Given the description of an element on the screen output the (x, y) to click on. 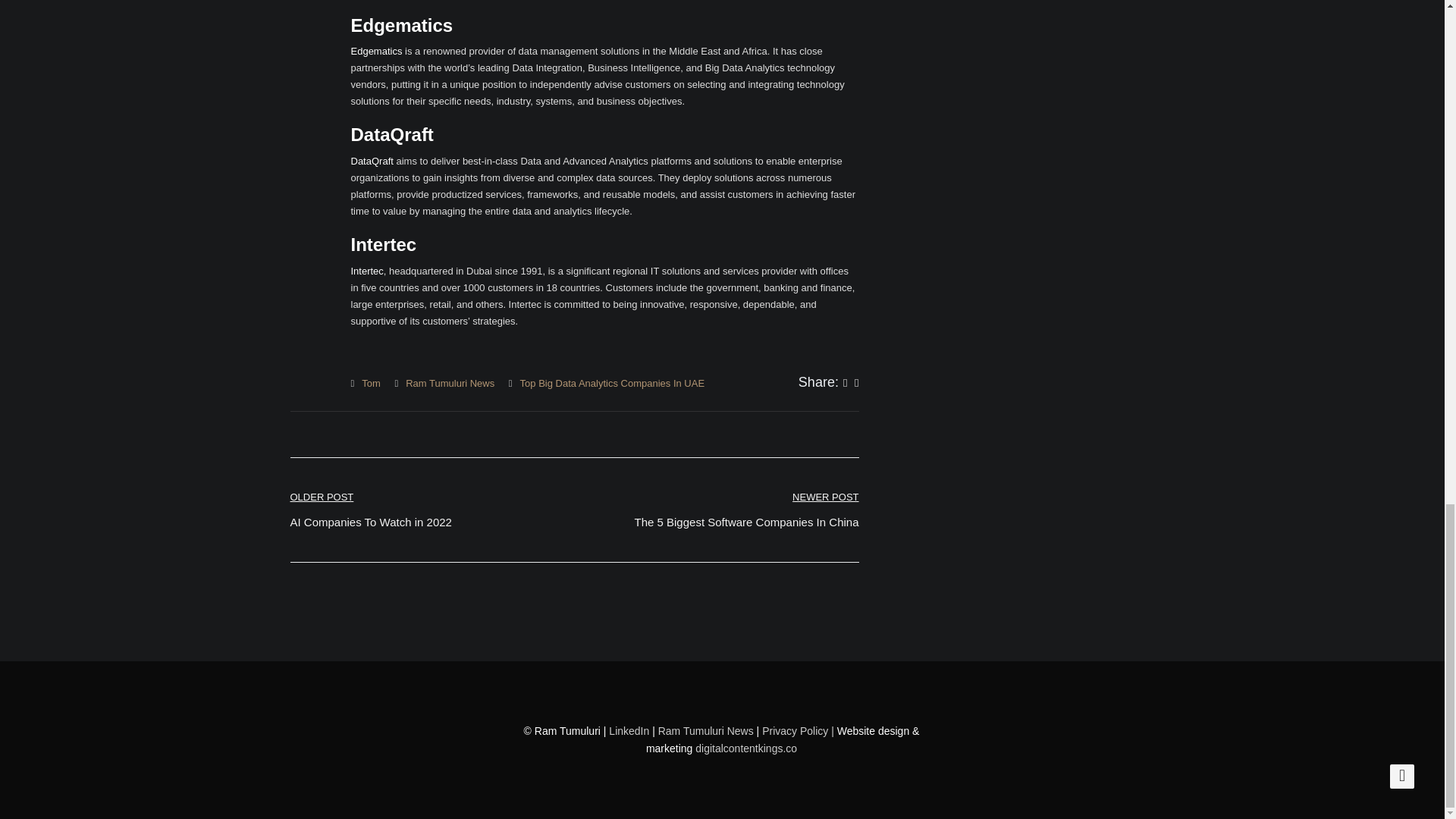
Tom (370, 383)
Posts by Tom (370, 383)
Ram Tumuluri News (746, 509)
Edgematics (450, 383)
Top Big Data Analytics Companies In UAE (375, 50)
LinkedIn (611, 383)
Intertec (628, 730)
digitalcontentkings.co (370, 509)
